Given the description of an element on the screen output the (x, y) to click on. 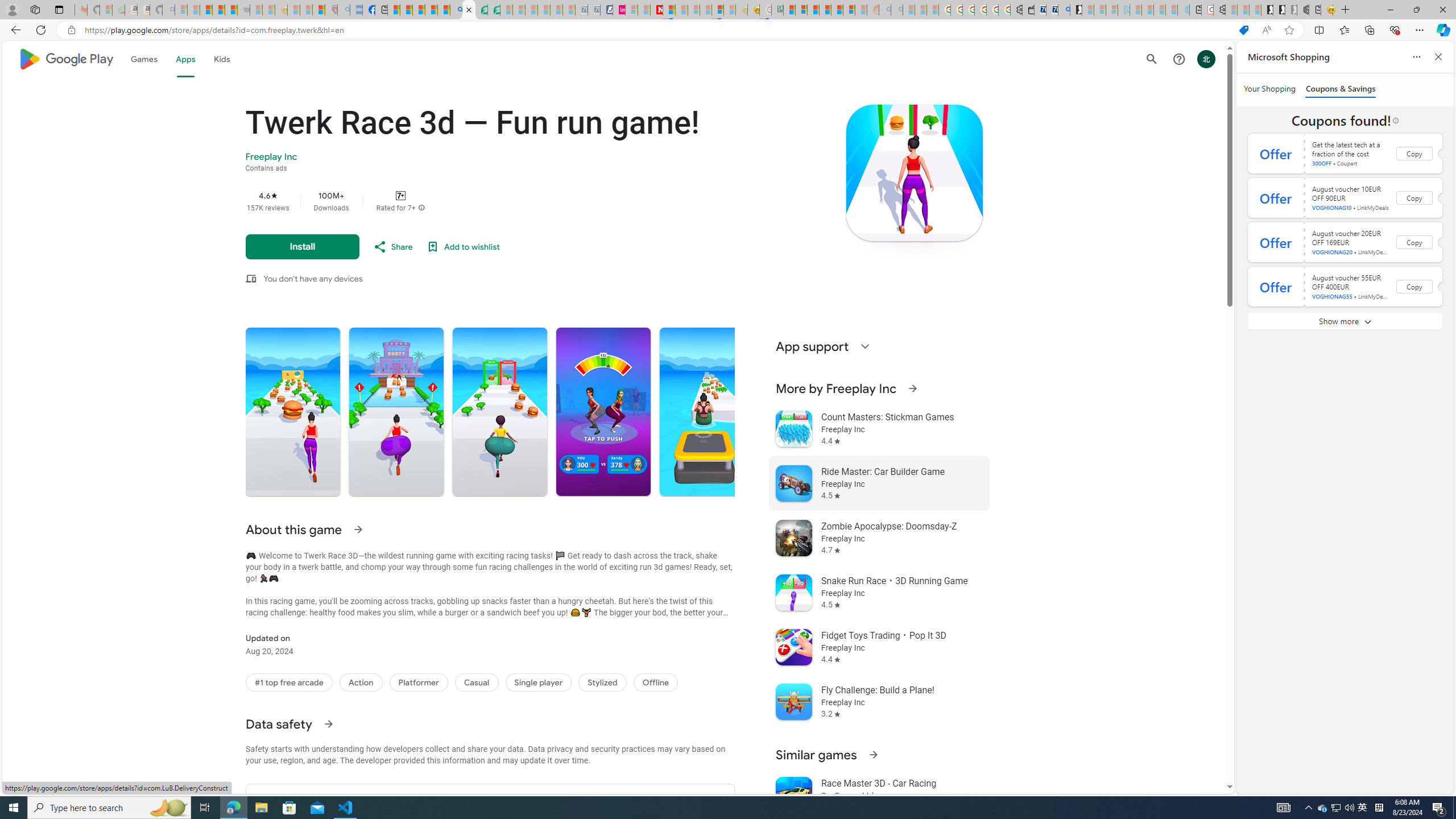
Pets - MSN (431, 9)
